Given the description of an element on the screen output the (x, y) to click on. 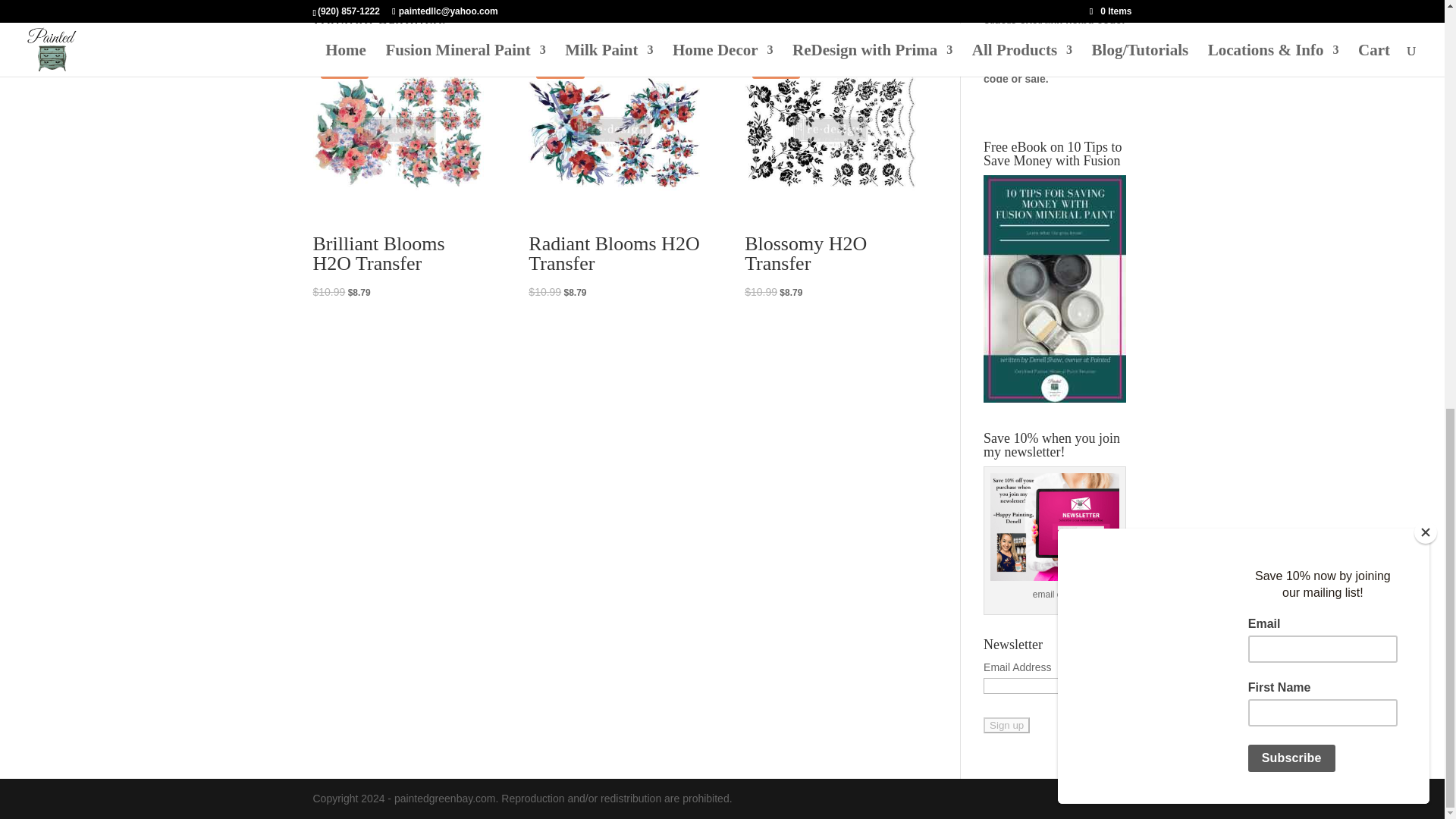
Sign up (1006, 725)
